Given the description of an element on the screen output the (x, y) to click on. 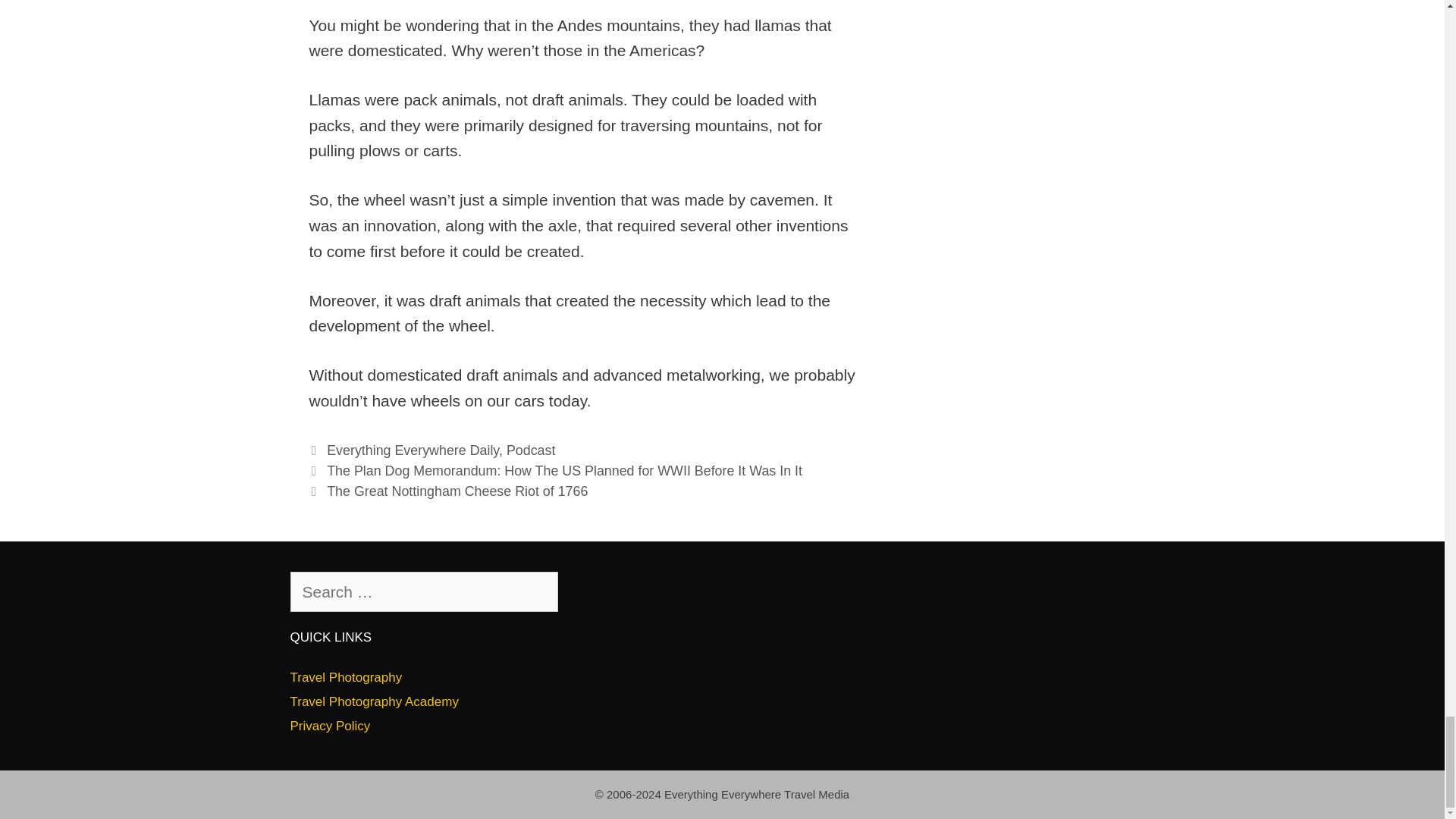
Everything Everywhere Daily (412, 450)
Search for: (423, 591)
The Great Nottingham Cheese Riot of 1766 (457, 491)
Podcast (530, 450)
